Given the description of an element on the screen output the (x, y) to click on. 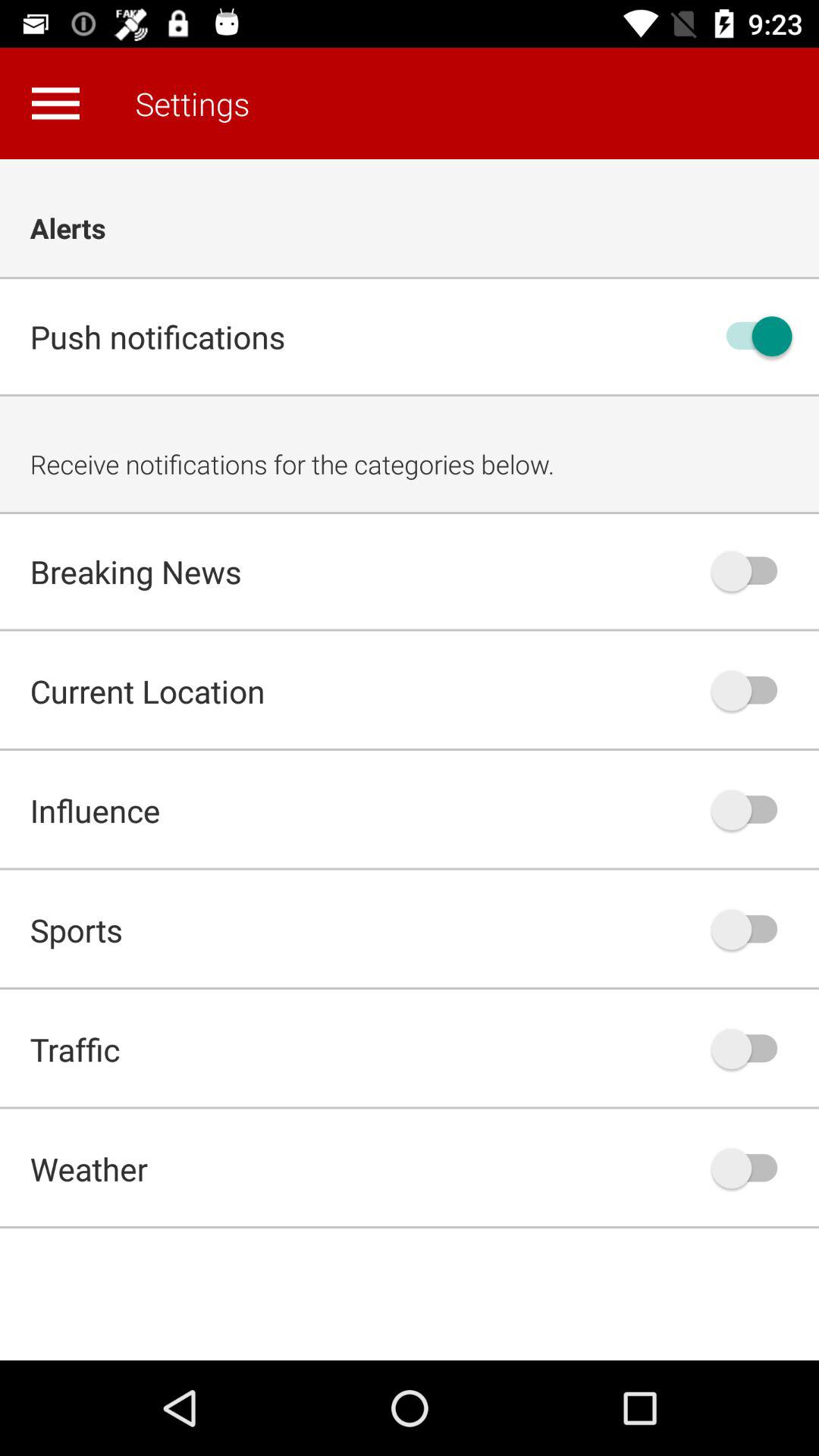
toggle push notifications (751, 336)
